Given the description of an element on the screen output the (x, y) to click on. 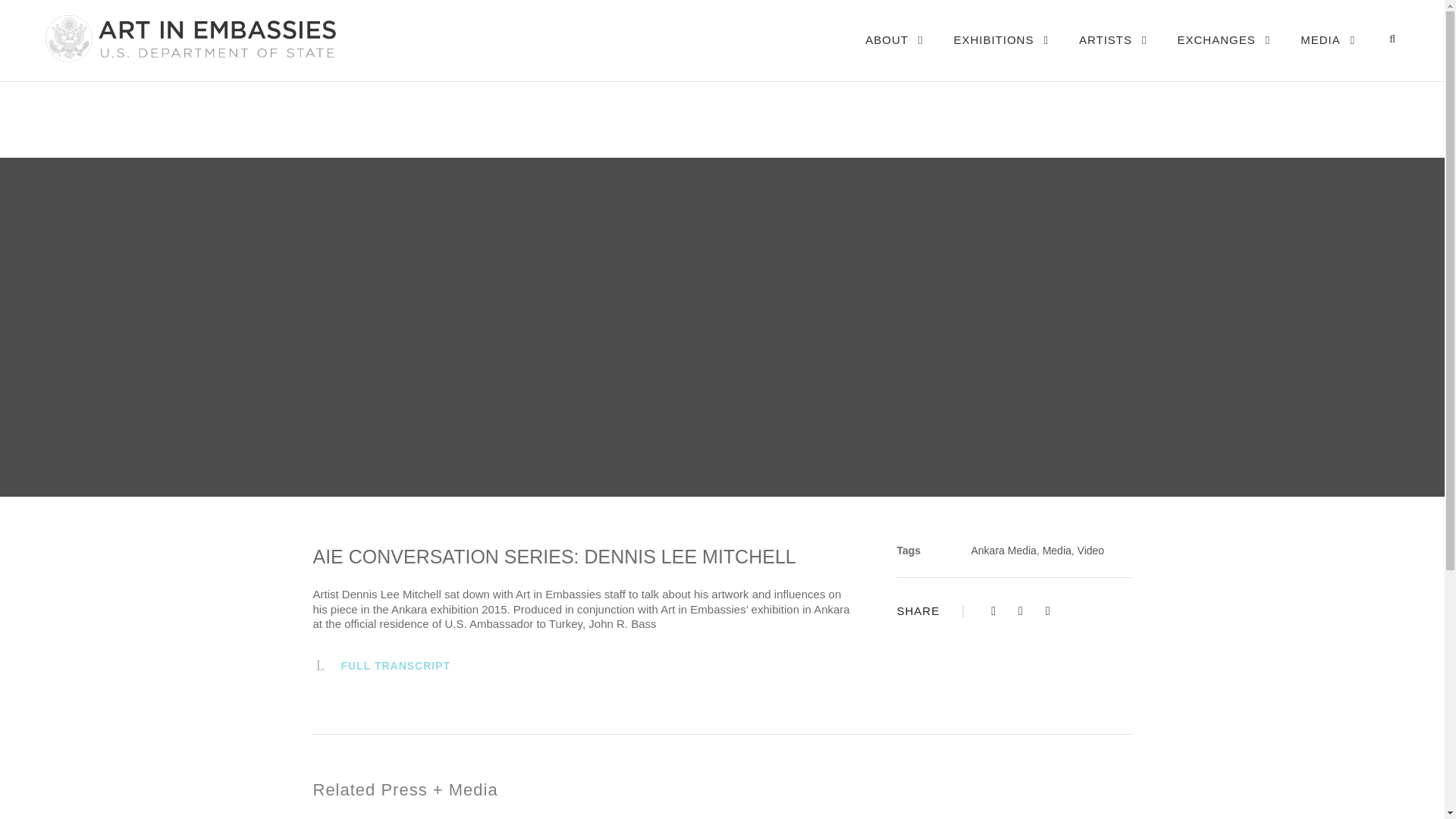
ABOUT (893, 55)
aie logo3 (188, 38)
